Given the description of an element on the screen output the (x, y) to click on. 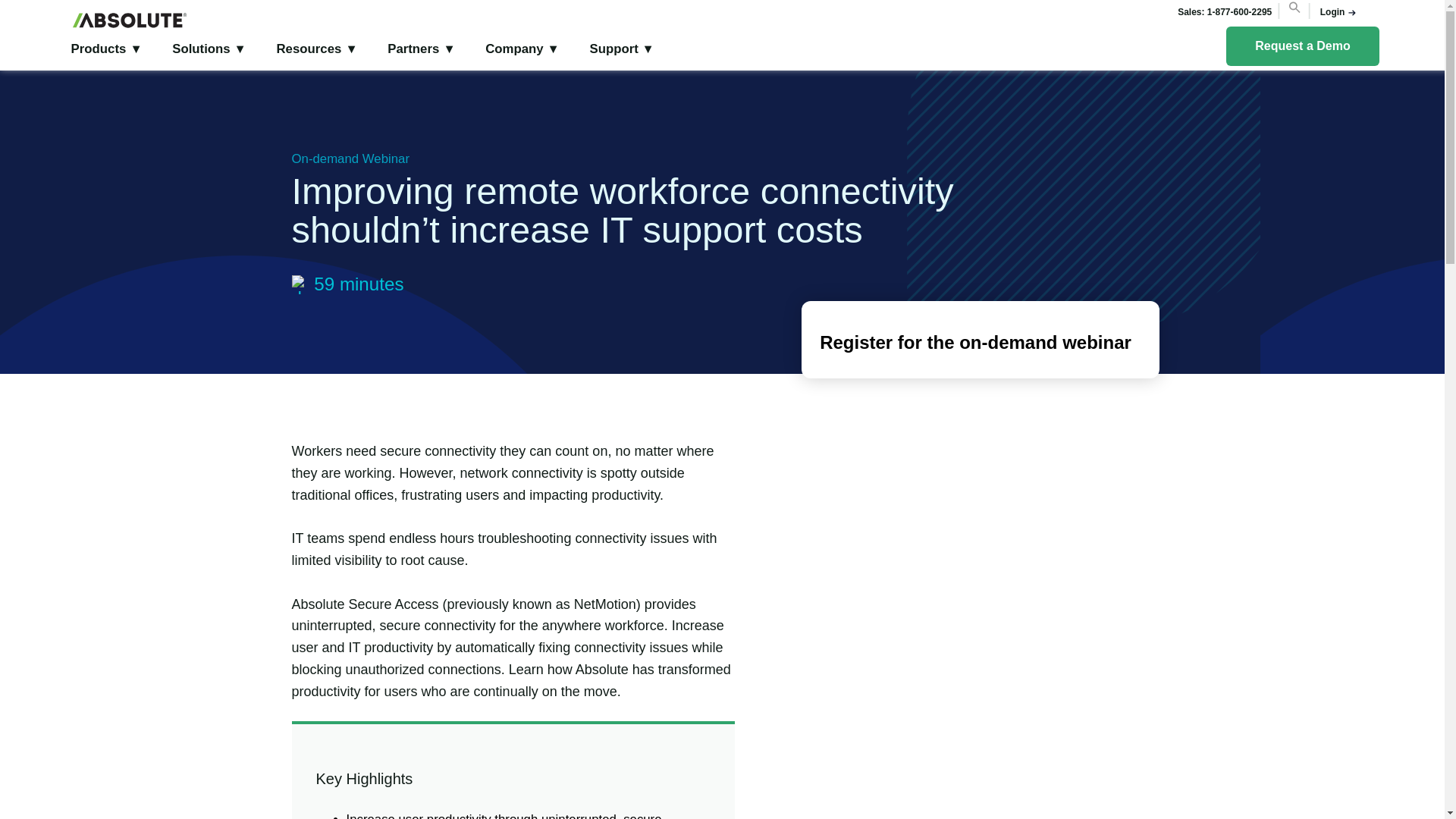
Products (105, 48)
Sales: 1-877-600-2295 (1224, 11)
Login (1332, 11)
Solutions (207, 48)
Request a Demo (1301, 46)
